Given the description of an element on the screen output the (x, y) to click on. 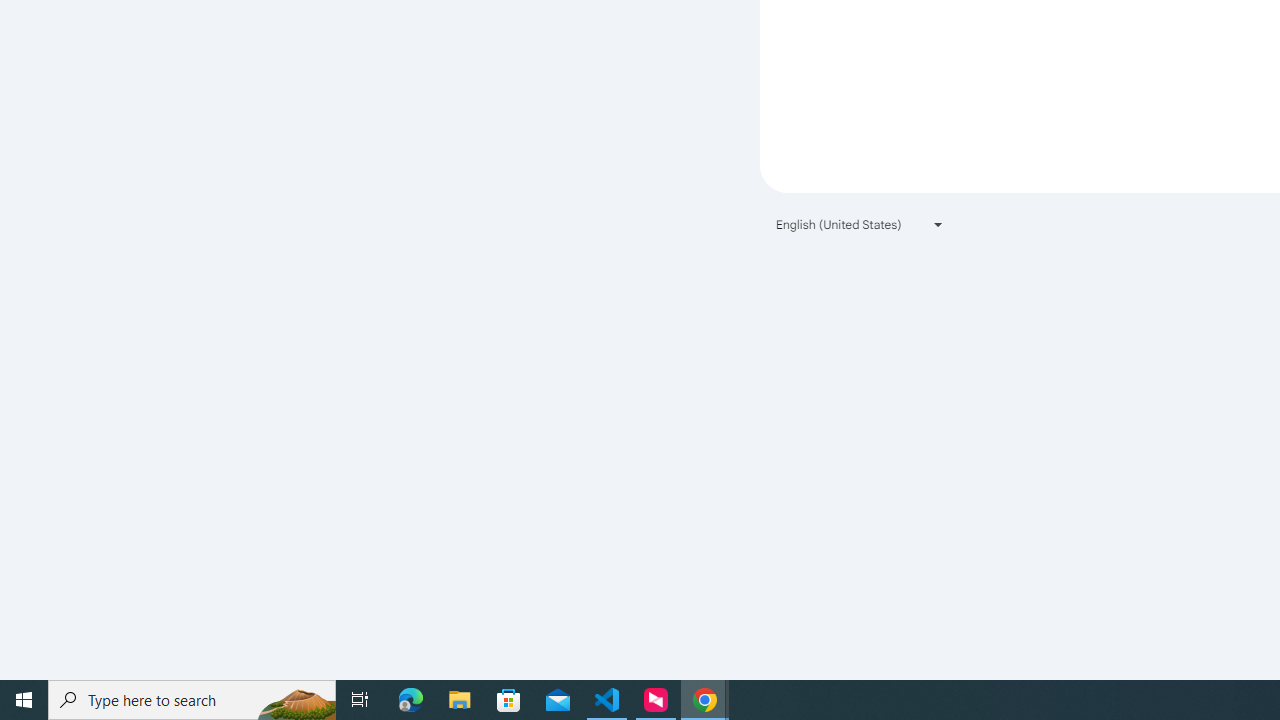
English (United States) (860, 224)
